Given the description of an element on the screen output the (x, y) to click on. 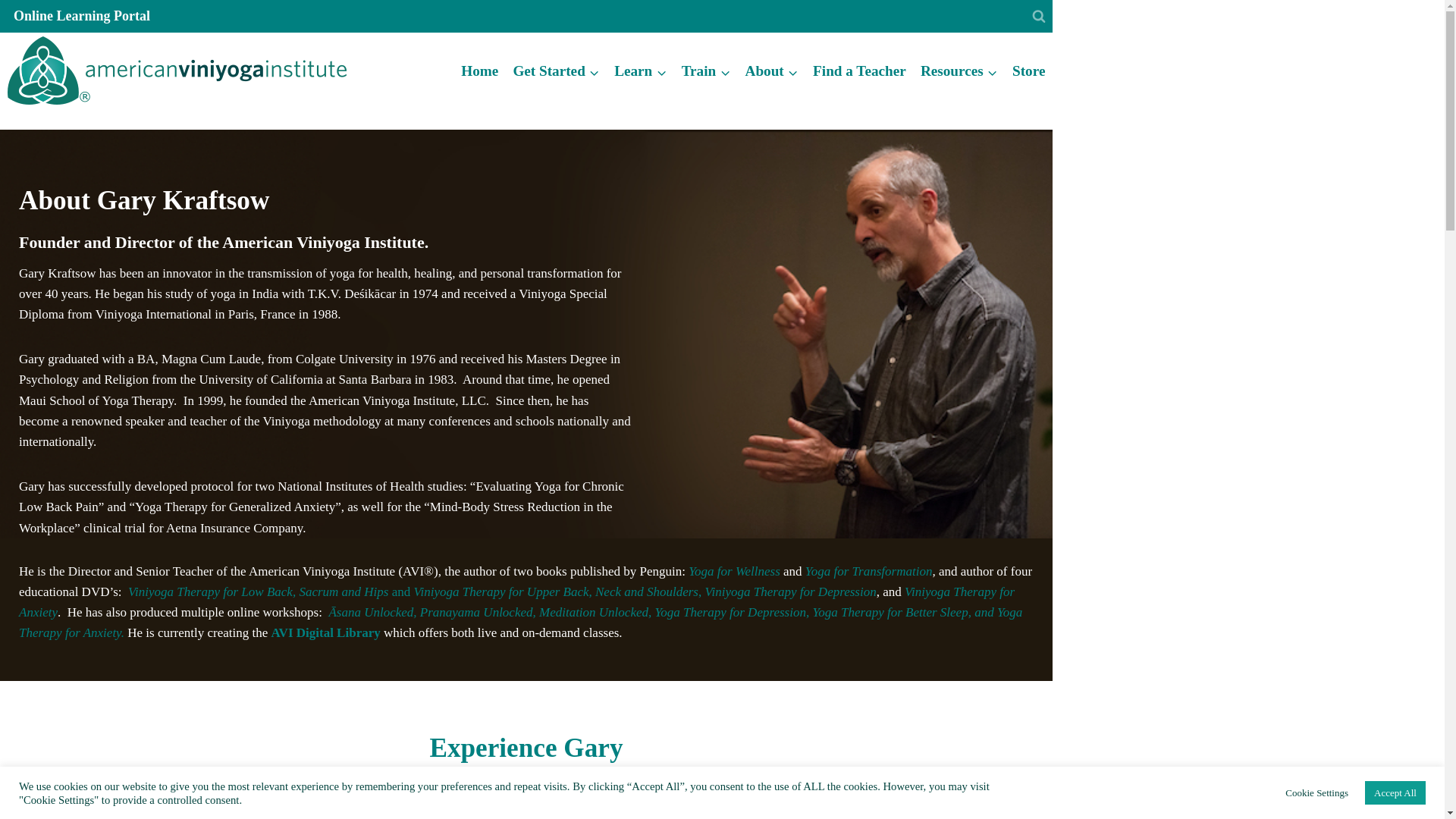
Learn (640, 71)
Home (479, 71)
AVI Professional Training Programs (330, 817)
Train (706, 71)
Yoga for Wellness (734, 571)
Resources (958, 71)
About (772, 71)
Online Learning Portal (81, 16)
Find a Teacher (860, 71)
AVI Digital Library (325, 632)
Get Started (556, 71)
Yoga for Transformation (869, 571)
Viniyoga Therapy for Anxiety (516, 601)
